Given the description of an element on the screen output the (x, y) to click on. 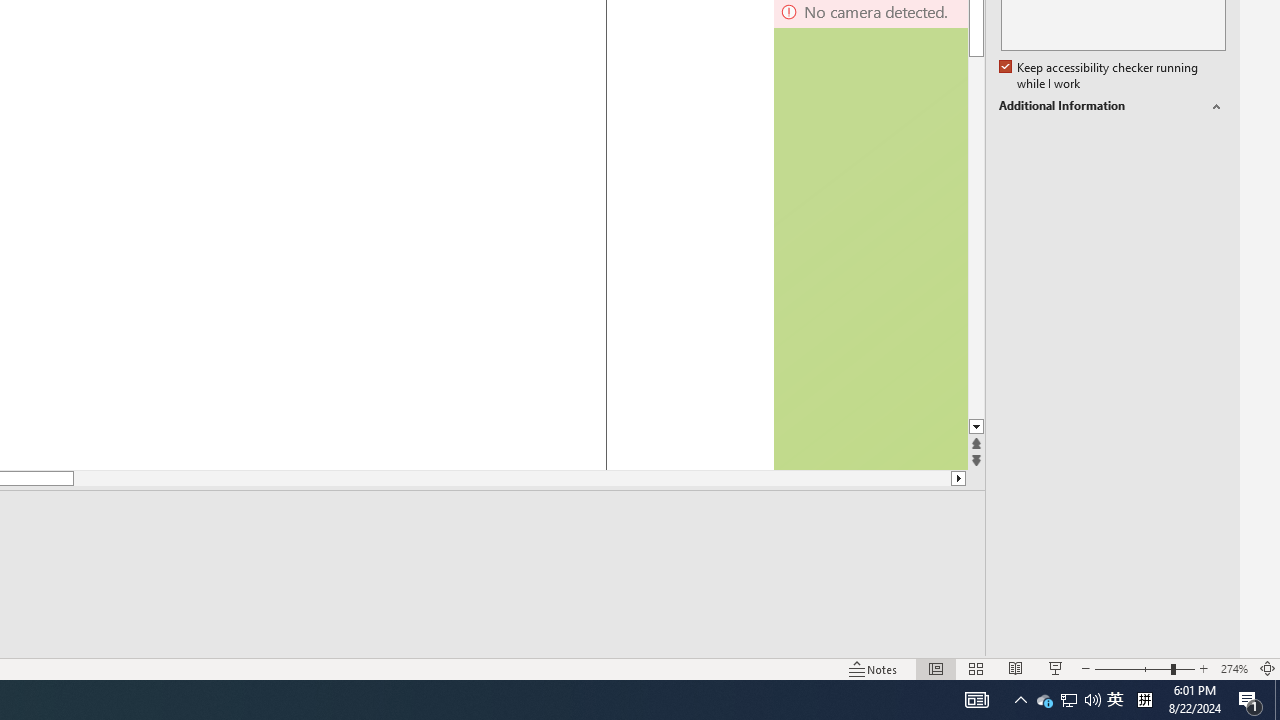
Keep accessibility checker running while I work (1099, 76)
Additional Information (1112, 106)
Action Center, 1 new notification (1250, 699)
